Given the description of an element on the screen output the (x, y) to click on. 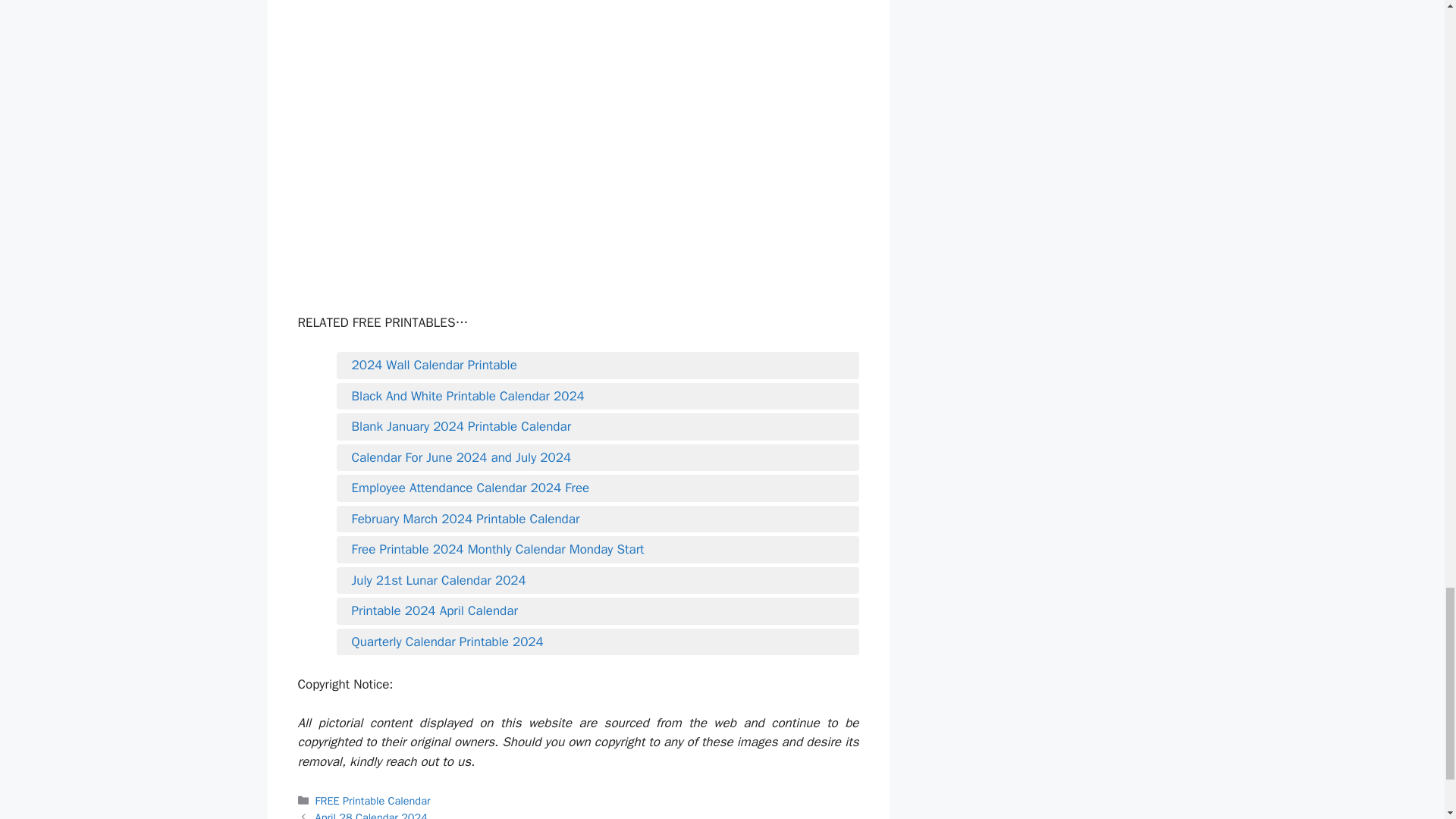
Printable 2024 April Calendar (597, 610)
Free Printable 2024 Monthly Calendar Monday Start (597, 549)
Calendar For June 2024 and July 2024 (597, 457)
Blank January 2024 Printable Calendar (597, 426)
2024 Wall Calendar Printable (597, 364)
Quarterly Calendar Printable 2024 (597, 641)
FREE Printable Calendar (372, 800)
Employee Attendance Calendar 2024 Free (597, 487)
Black And White Printable Calendar 2024 (597, 395)
April 28 Calendar 2024 (371, 814)
